Given the description of an element on the screen output the (x, y) to click on. 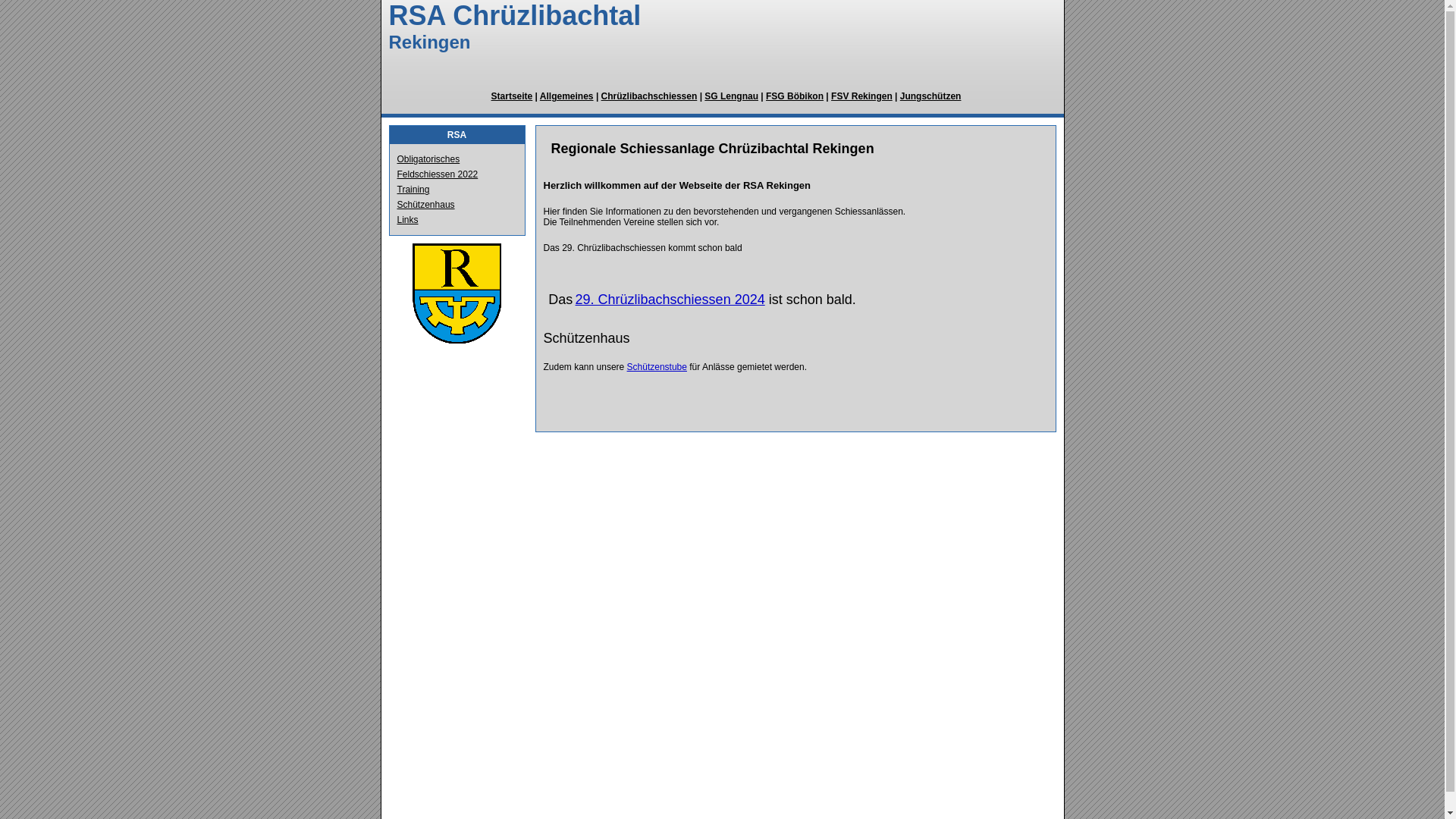
Allgemeines Element type: text (566, 96)
Startseite Element type: text (512, 96)
Feldschiessen 2022 Element type: text (437, 174)
FSV Rekingen Element type: text (861, 96)
Training Element type: text (413, 189)
Obligatorisches Element type: text (428, 158)
Links Element type: text (407, 219)
SG Lengnau Element type: text (731, 96)
